Given the description of an element on the screen output the (x, y) to click on. 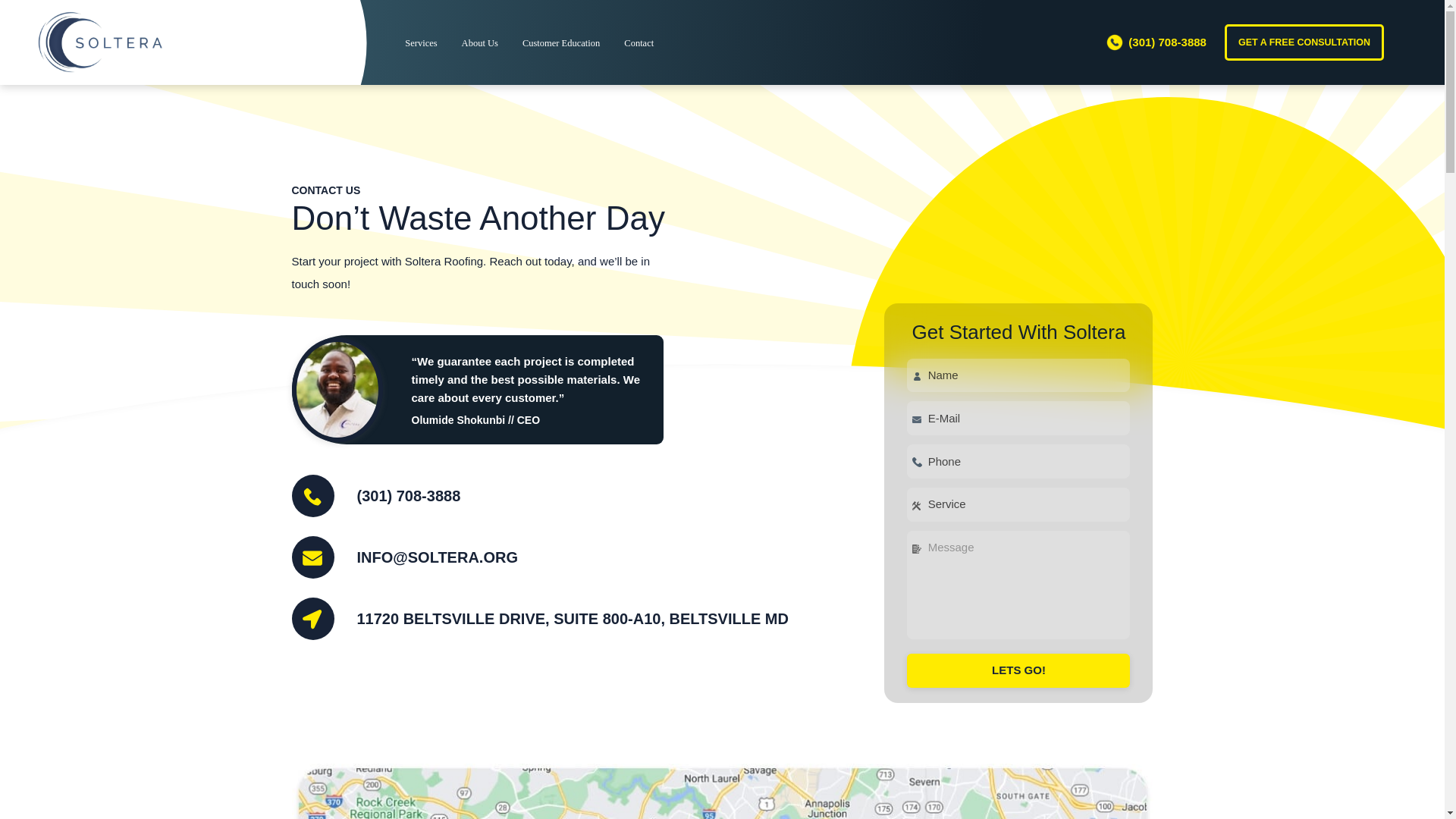
GET A FREE CONSULTATION (1304, 42)
Customer Education (560, 42)
Contact (638, 42)
11720 BELTSVILLE DRIVE, SUITE 800-A10, BELTSVILLE MD (571, 618)
LETS GO! (1018, 670)
Services (420, 42)
About Us (479, 42)
